Given the description of an element on the screen output the (x, y) to click on. 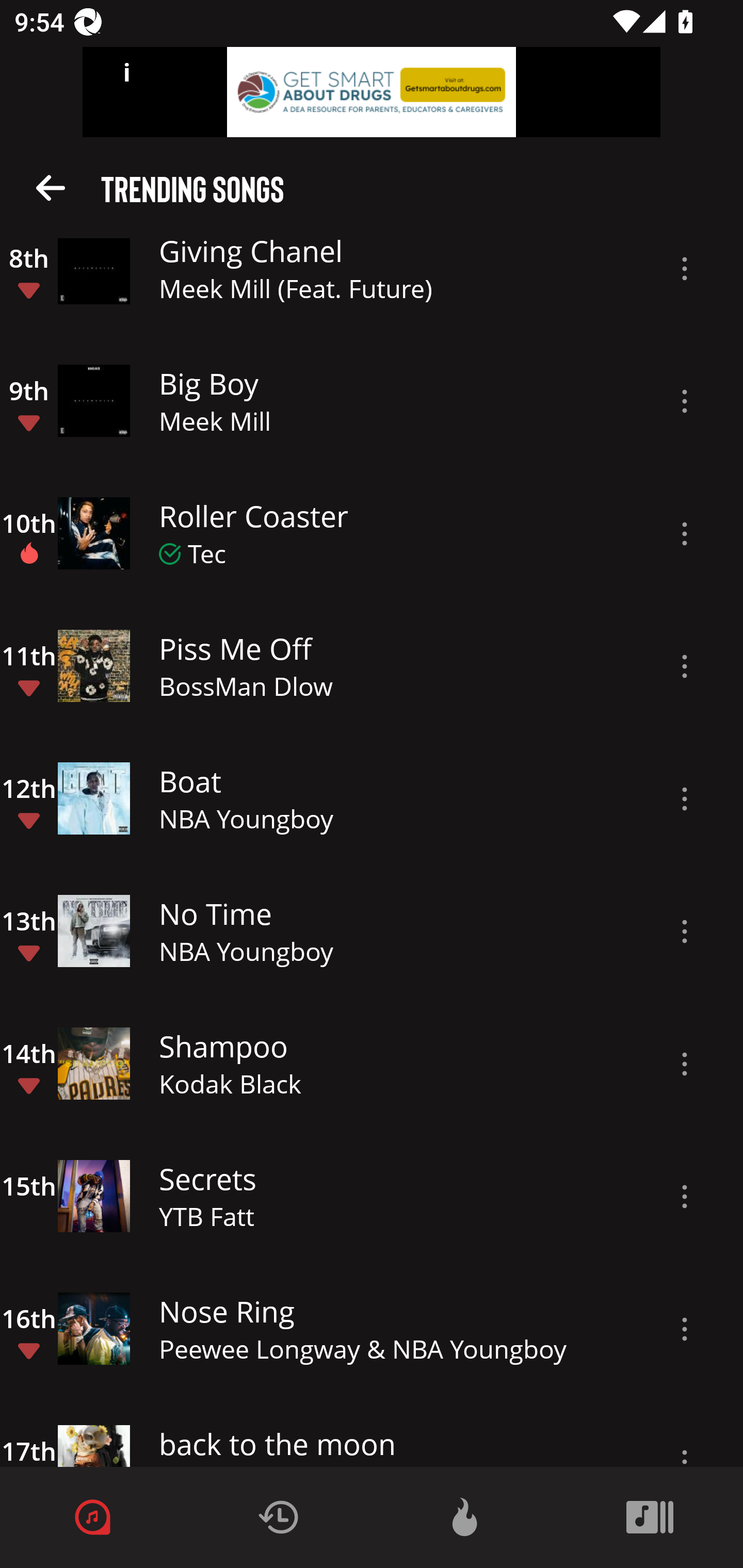
Description (685, 268)
Description (685, 401)
Description (685, 533)
Description (685, 666)
Description (685, 798)
Description (685, 931)
Description (685, 1063)
Description (685, 1197)
Description (685, 1328)
